Given the description of an element on the screen output the (x, y) to click on. 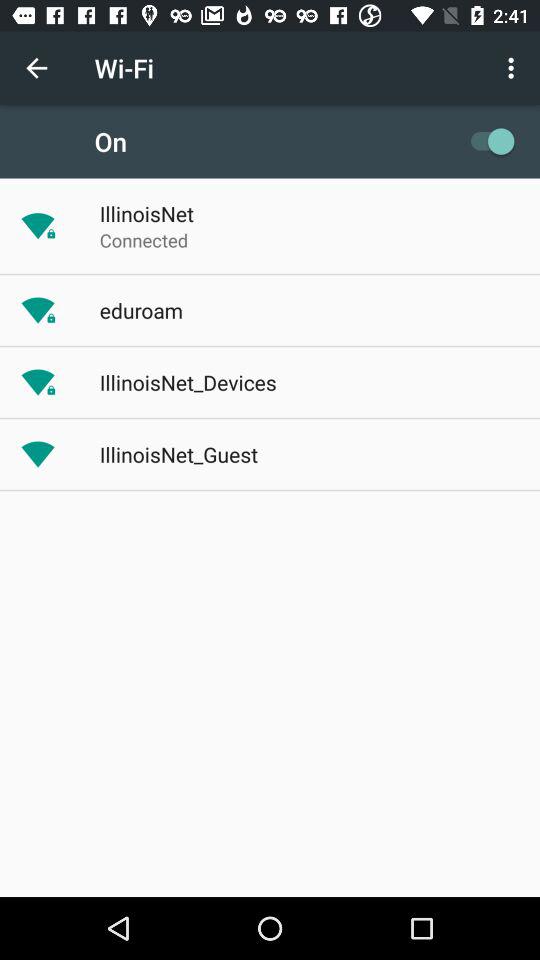
jump to connected (143, 239)
